Given the description of an element on the screen output the (x, y) to click on. 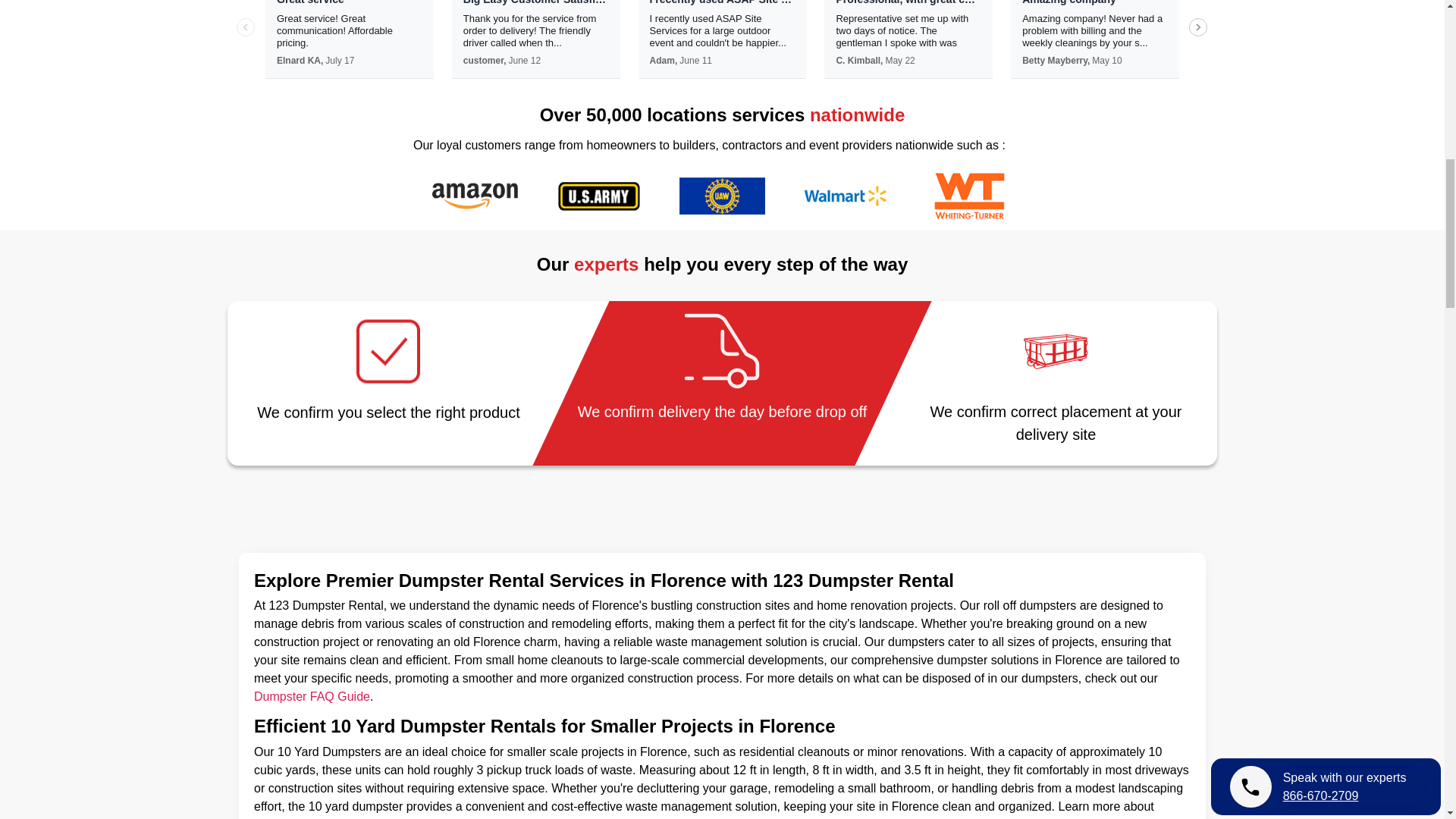
Dumpster FAQ Guide (311, 696)
Customer reviews powered by Trustpilot (722, 65)
